Given the description of an element on the screen output the (x, y) to click on. 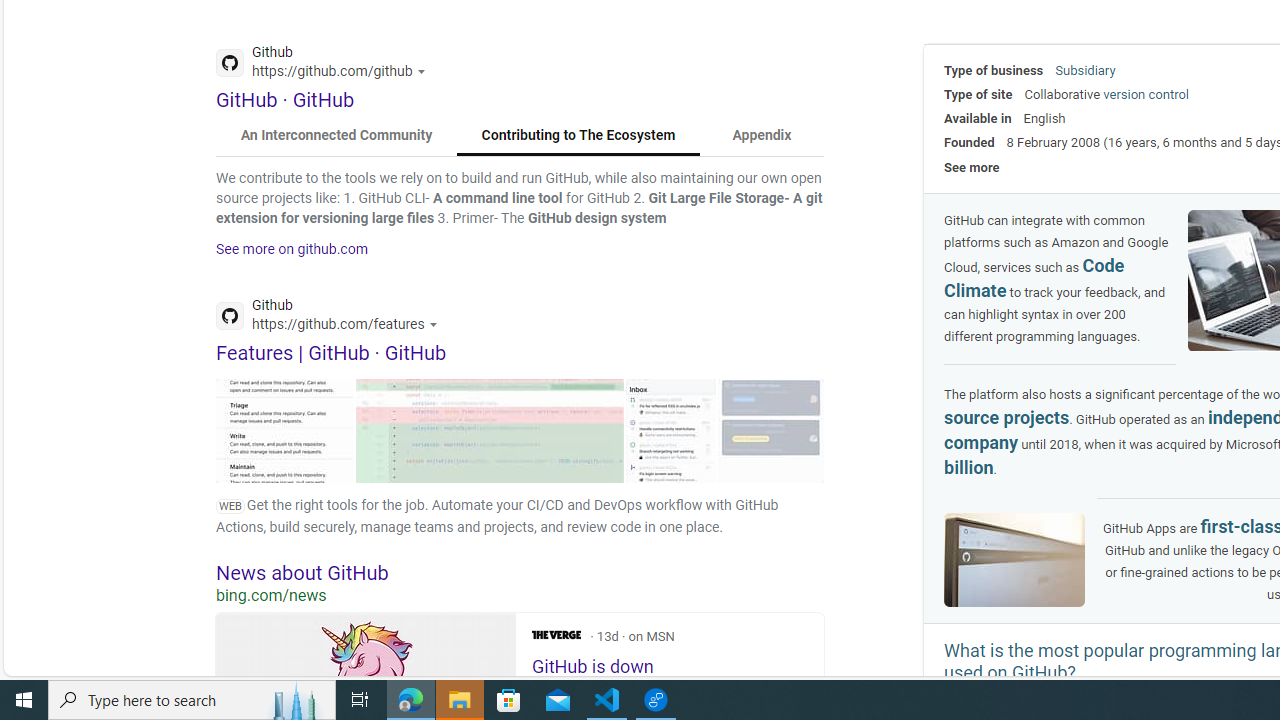
Subsidiary (1085, 70)
See more on github.com (292, 249)
Contributing to The Ecosystem (578, 135)
bing.com/news (520, 595)
News about GitHub (520, 572)
Image of GitHub (1014, 560)
Type of site (978, 94)
View details (771, 430)
Appendix (761, 135)
Actions for this site (435, 324)
Type of business (994, 70)
Founded (969, 142)
